Given the description of an element on the screen output the (x, y) to click on. 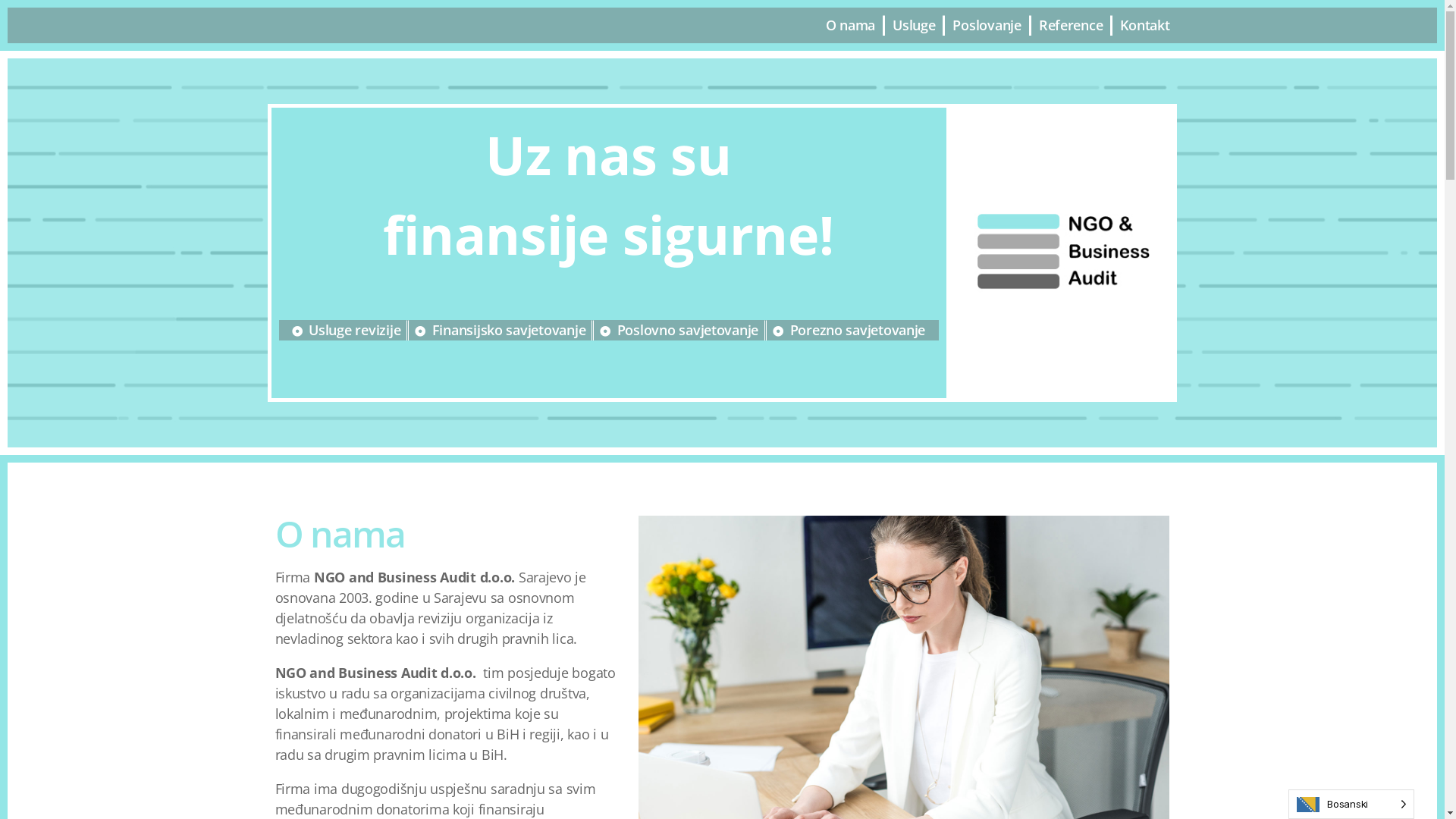
logo_head_banner Element type: hover (1062, 252)
Reference Element type: text (1070, 25)
Usluge Element type: text (913, 25)
Kontakt Element type: text (1144, 25)
O nama Element type: text (850, 25)
Poslovanje Element type: text (986, 25)
